Given the description of an element on the screen output the (x, y) to click on. 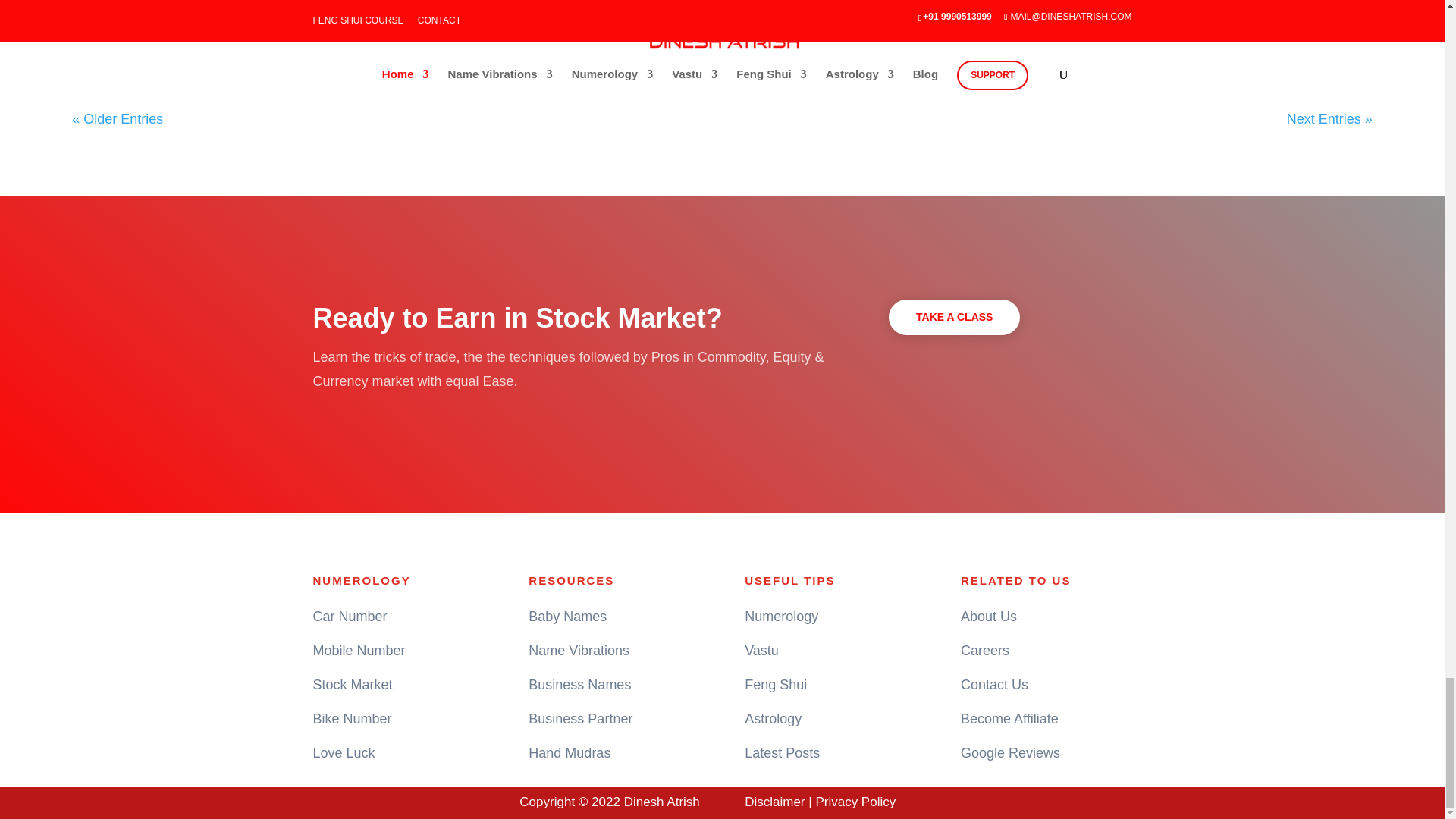
Posts by Dinesh Atrish (1019, 56)
Posts by Dinesh Atrish (125, 56)
Posts by At Denesh Atrish (578, 56)
